Given the description of an element on the screen output the (x, y) to click on. 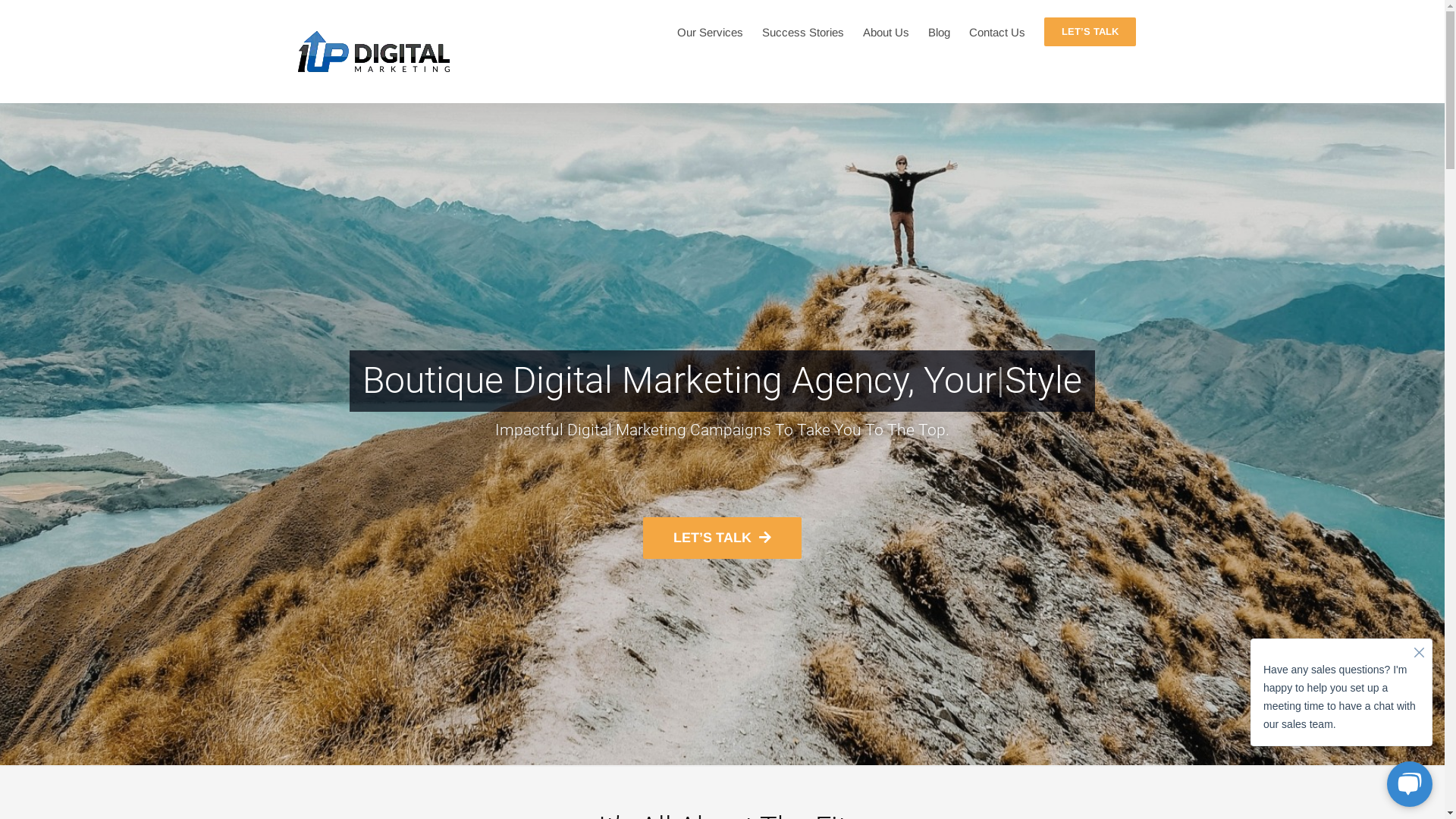
About Us Element type: text (885, 31)
Contact Us Element type: text (997, 31)
Blog Element type: text (939, 31)
Success Stories Element type: text (802, 31)
Our Services Element type: text (709, 31)
